Given the description of an element on the screen output the (x, y) to click on. 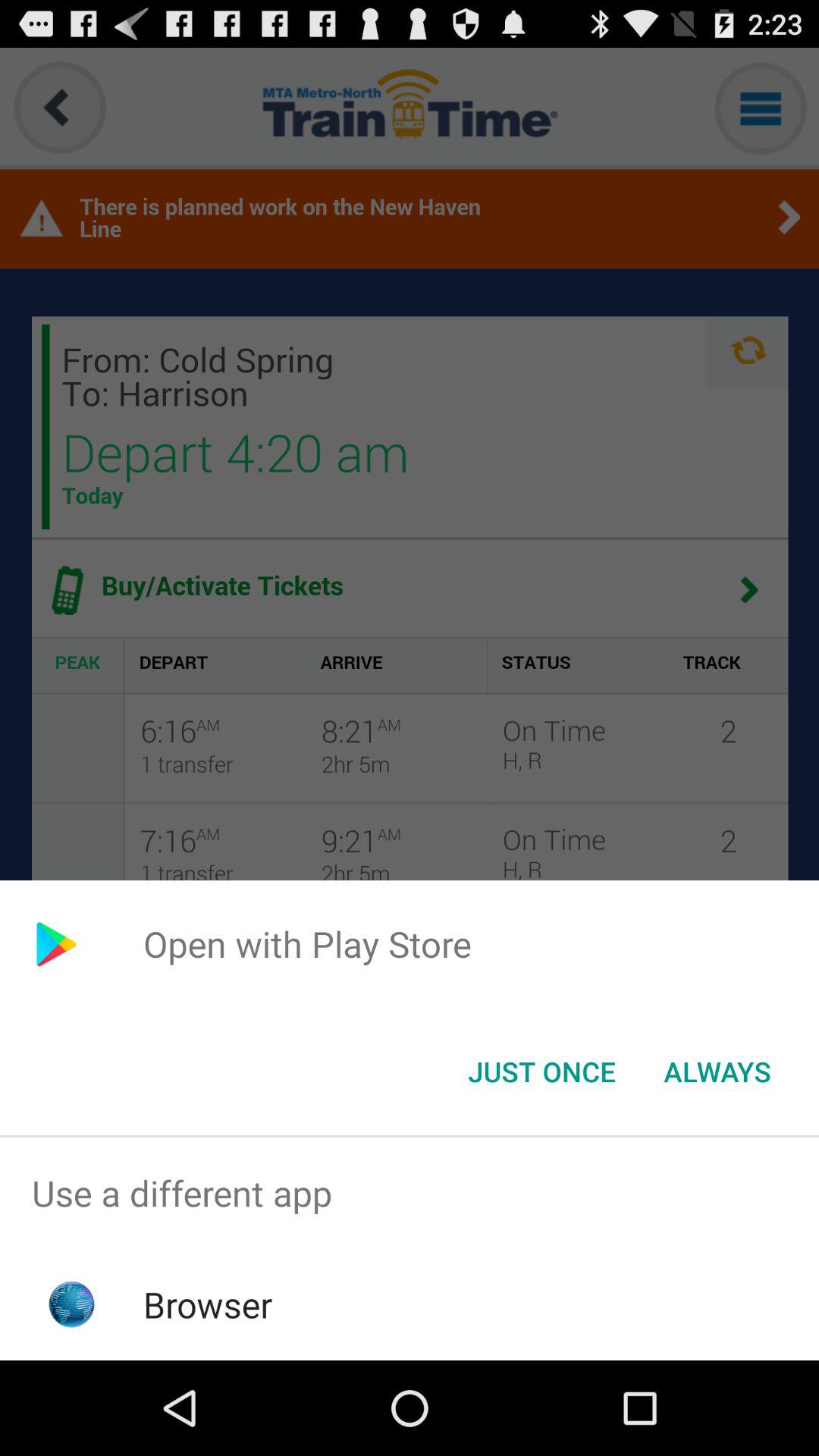
turn off icon at the bottom right corner (717, 1071)
